Given the description of an element on the screen output the (x, y) to click on. 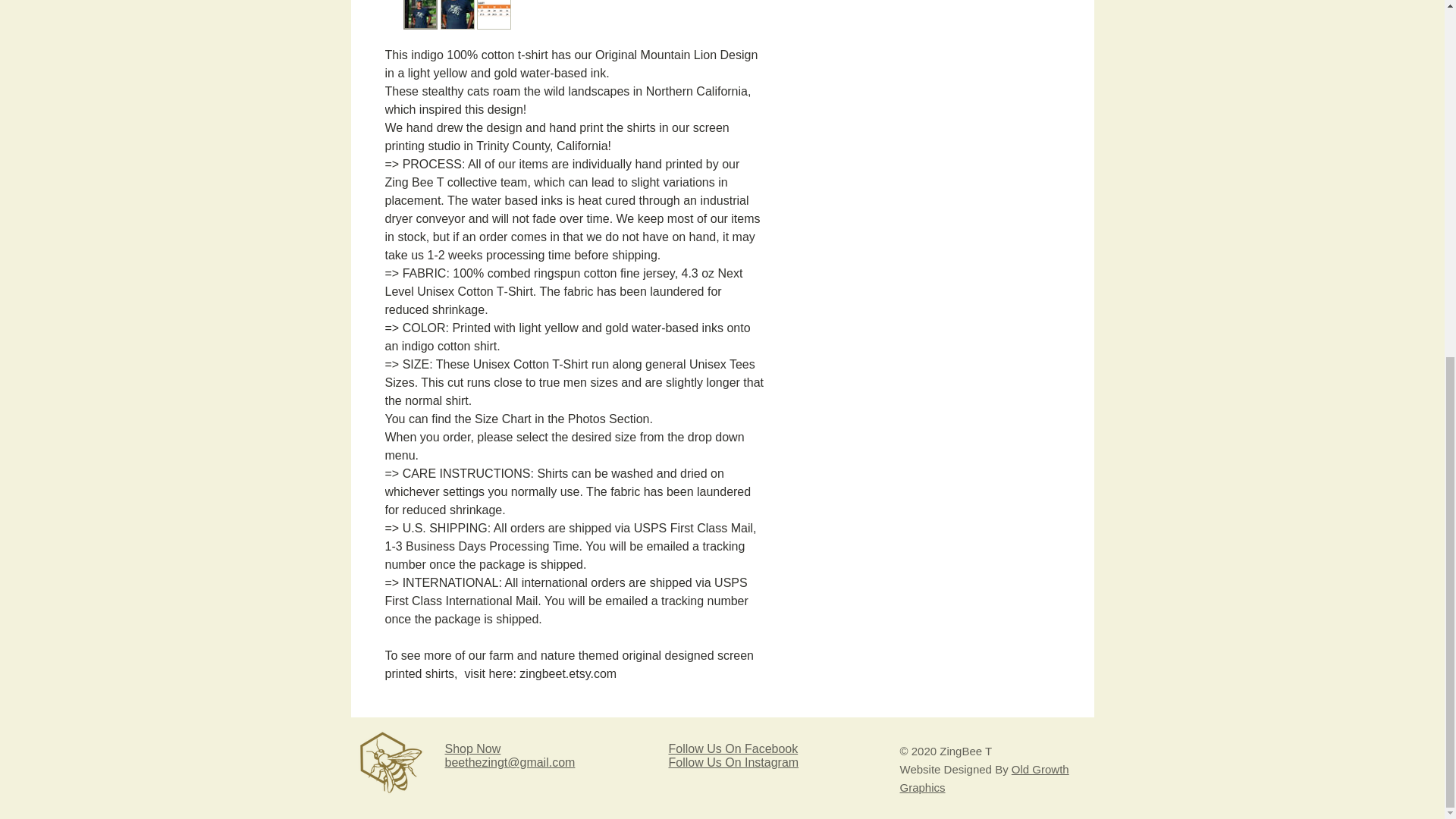
Follow Us On Facebook (732, 748)
Logo.png (392, 759)
Follow Us On Instagram (733, 762)
Shop Now (472, 748)
Old Growth Graphics (983, 777)
